Given the description of an element on the screen output the (x, y) to click on. 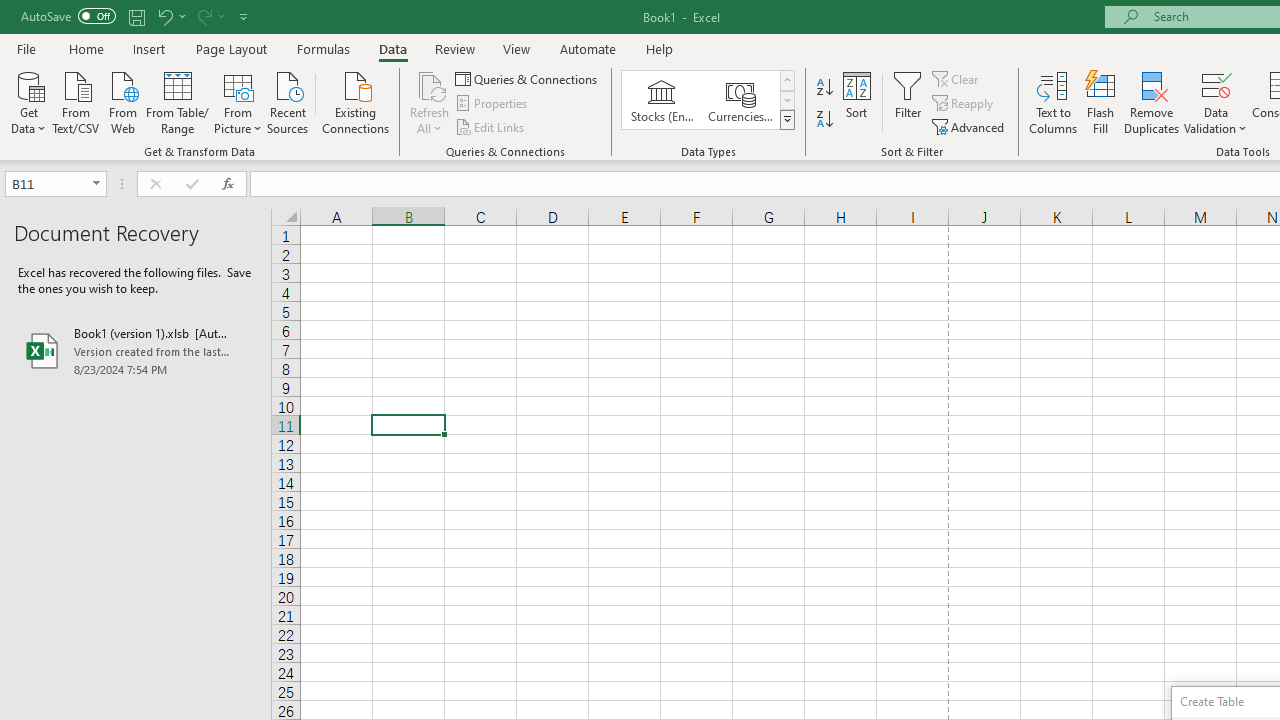
AutoSave (68, 16)
Stocks (English) (662, 100)
Sort A to Z (824, 87)
From Table/Range (177, 101)
Remove Duplicates (1151, 102)
Queries & Connections (527, 78)
Flash Fill (1101, 102)
From Web (122, 101)
